Given the description of an element on the screen output the (x, y) to click on. 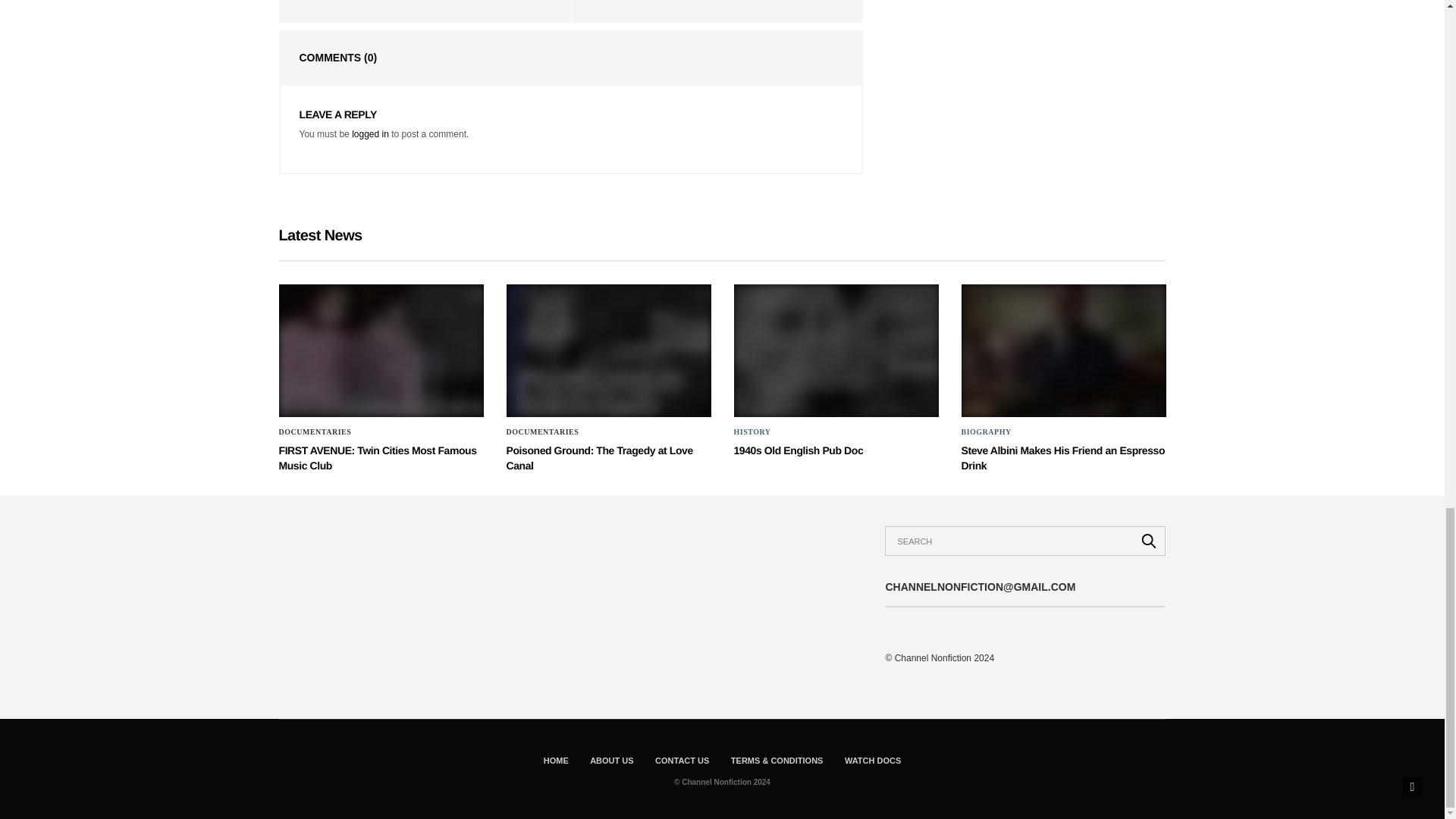
logged in (370, 133)
1940s Old English Pub Doc (836, 350)
Poisoned Ground: The Tragedy at Love Canal (599, 457)
Search (1149, 540)
Poisoned Ground: The Tragedy at Love Canal (599, 457)
DOCUMENTARIES (315, 431)
HISTORY (752, 431)
Poisoned Ground: The Tragedy at Love Canal (608, 350)
FIRST AVENUE: Twin Cities Most Famous Music Club (378, 457)
DOCUMENTARIES (542, 431)
FIRST AVENUE: Twin Cities Most Famous Music Club (381, 350)
Documentaries (315, 431)
Documentaries (542, 431)
FIRST AVENUE: Twin Cities Most Famous Music Club (378, 457)
